Given the description of an element on the screen output the (x, y) to click on. 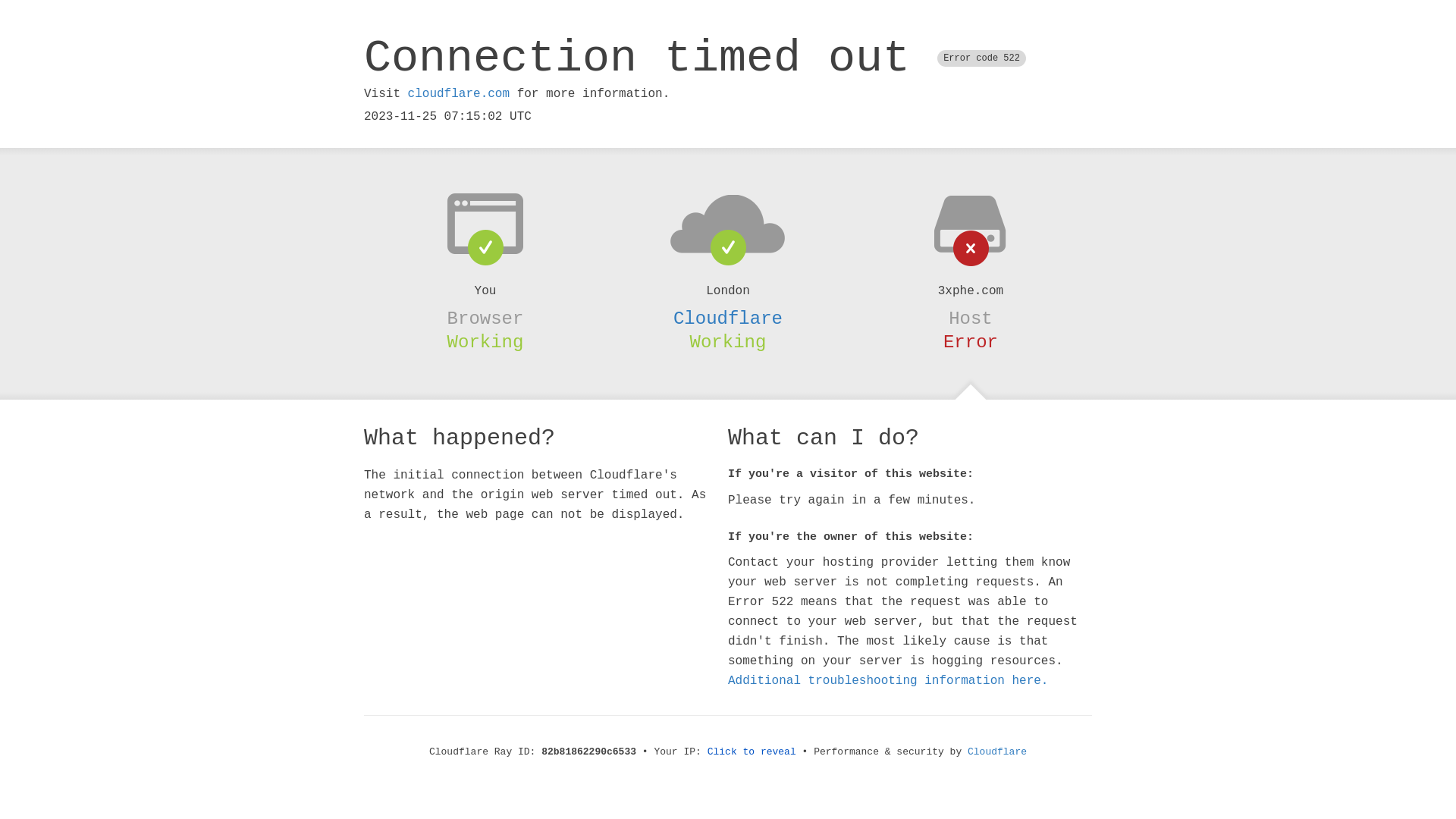
cloudflare.com Element type: text (458, 93)
Additional troubleshooting information here. Element type: text (888, 680)
Cloudflare Element type: text (996, 751)
Cloudflare Element type: text (727, 318)
Click to reveal Element type: text (751, 751)
